Given the description of an element on the screen output the (x, y) to click on. 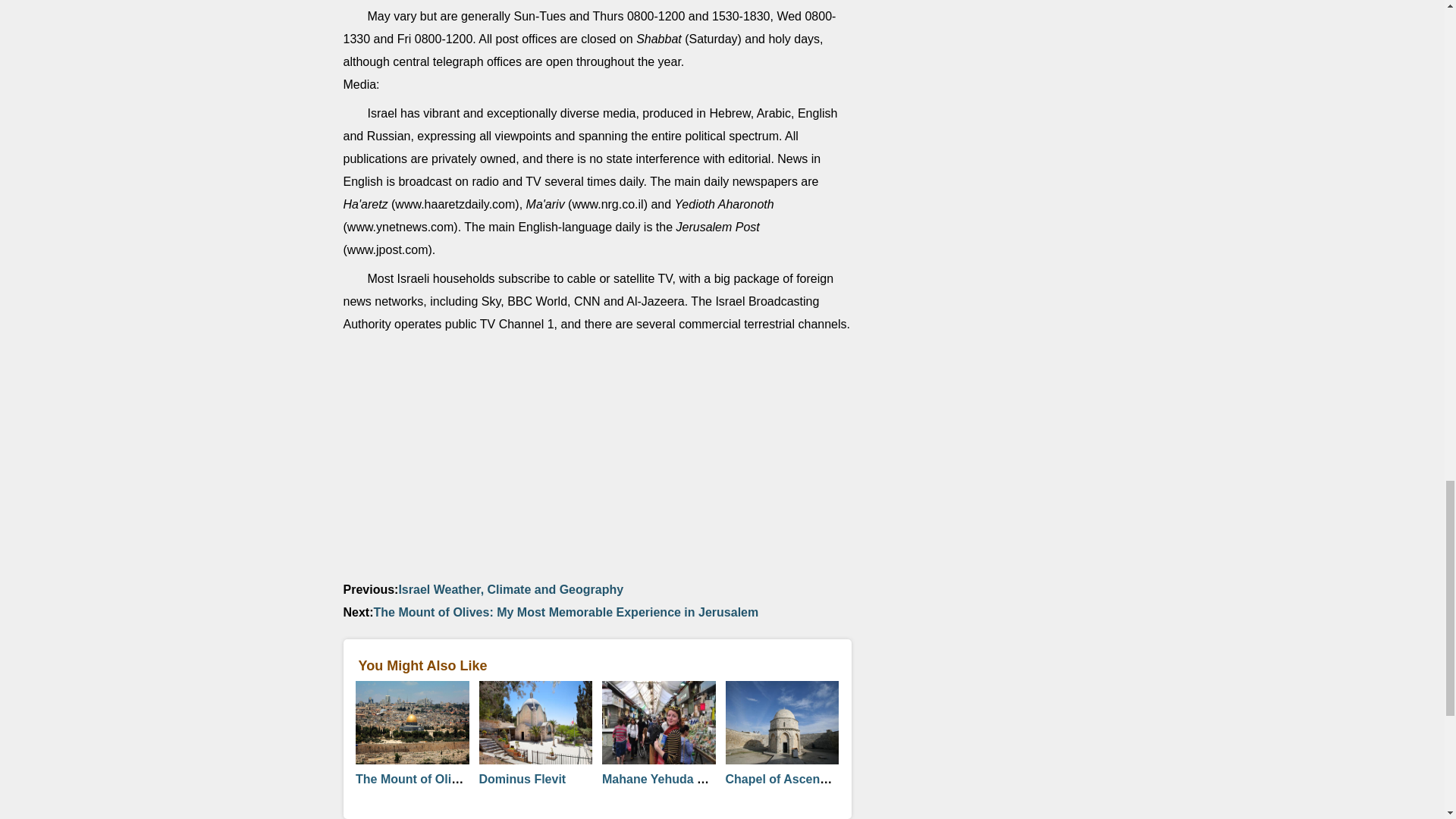
Chapel of Ascension (784, 779)
Israel Weather, Climate and Geography (510, 589)
Dominus Flevit (522, 779)
